Given the description of an element on the screen output the (x, y) to click on. 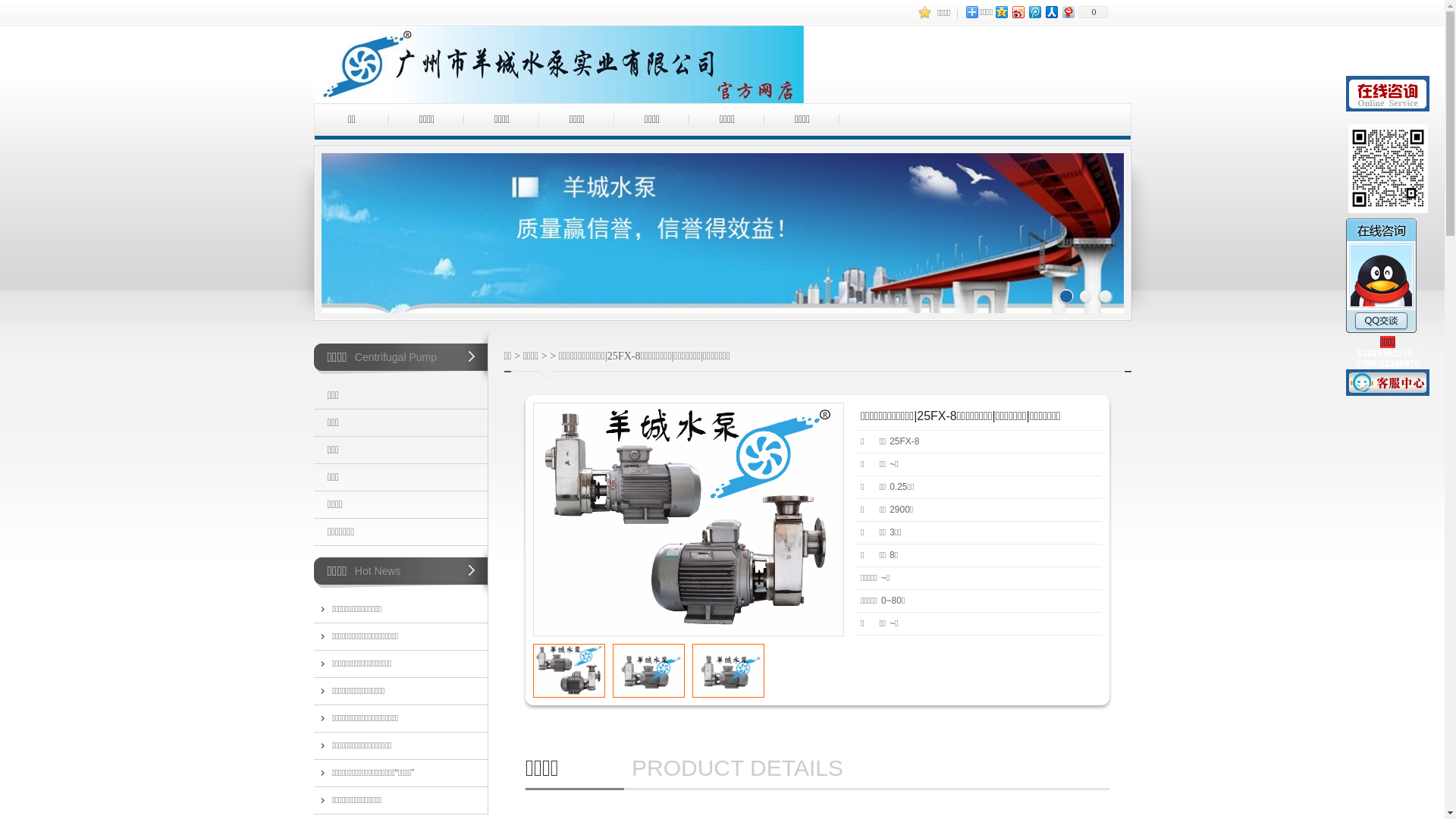
0 Element type: text (1091, 12)
